Given the description of an element on the screen output the (x, y) to click on. 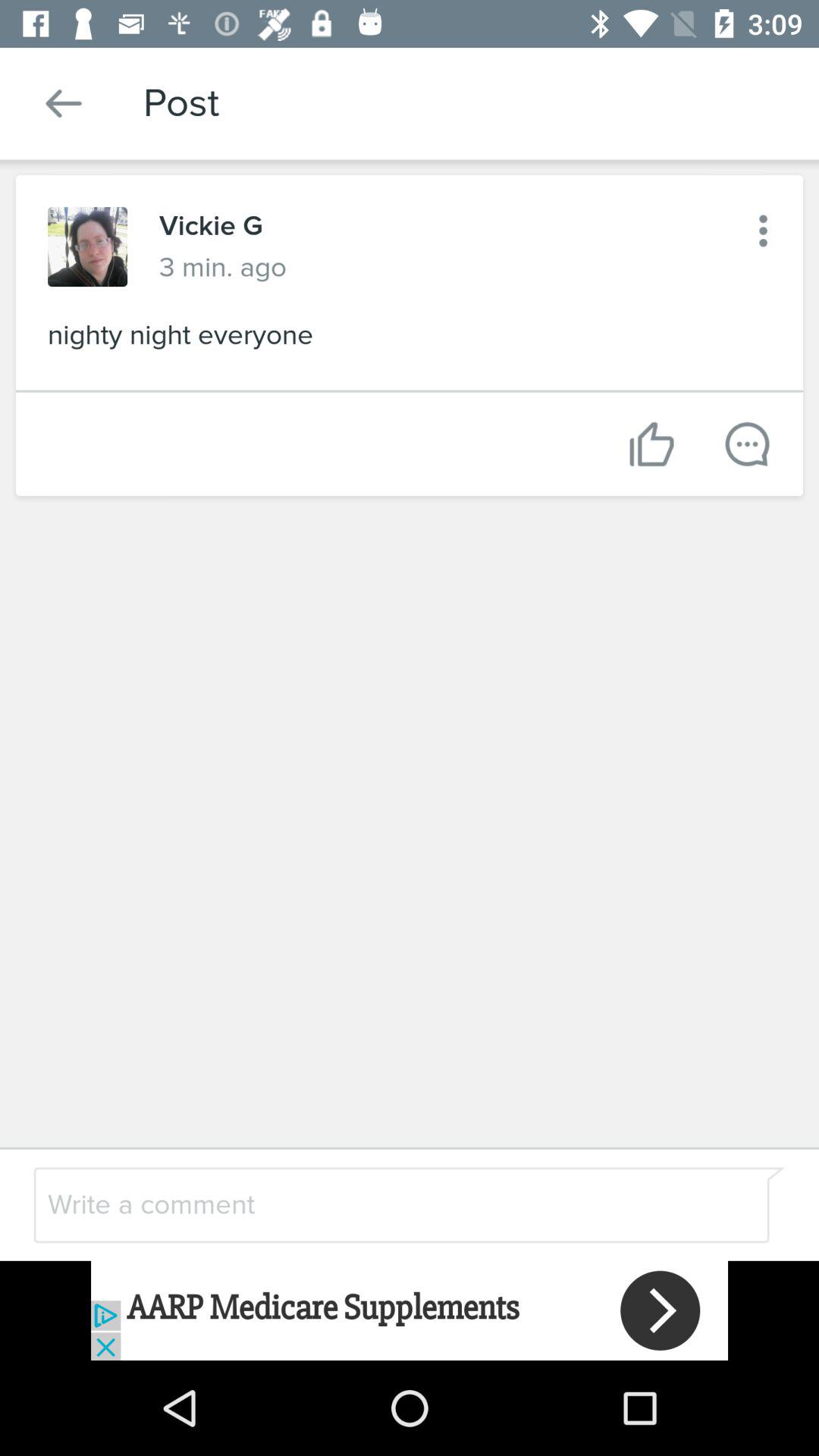
switch to profile photo (87, 246)
